Given the description of an element on the screen output the (x, y) to click on. 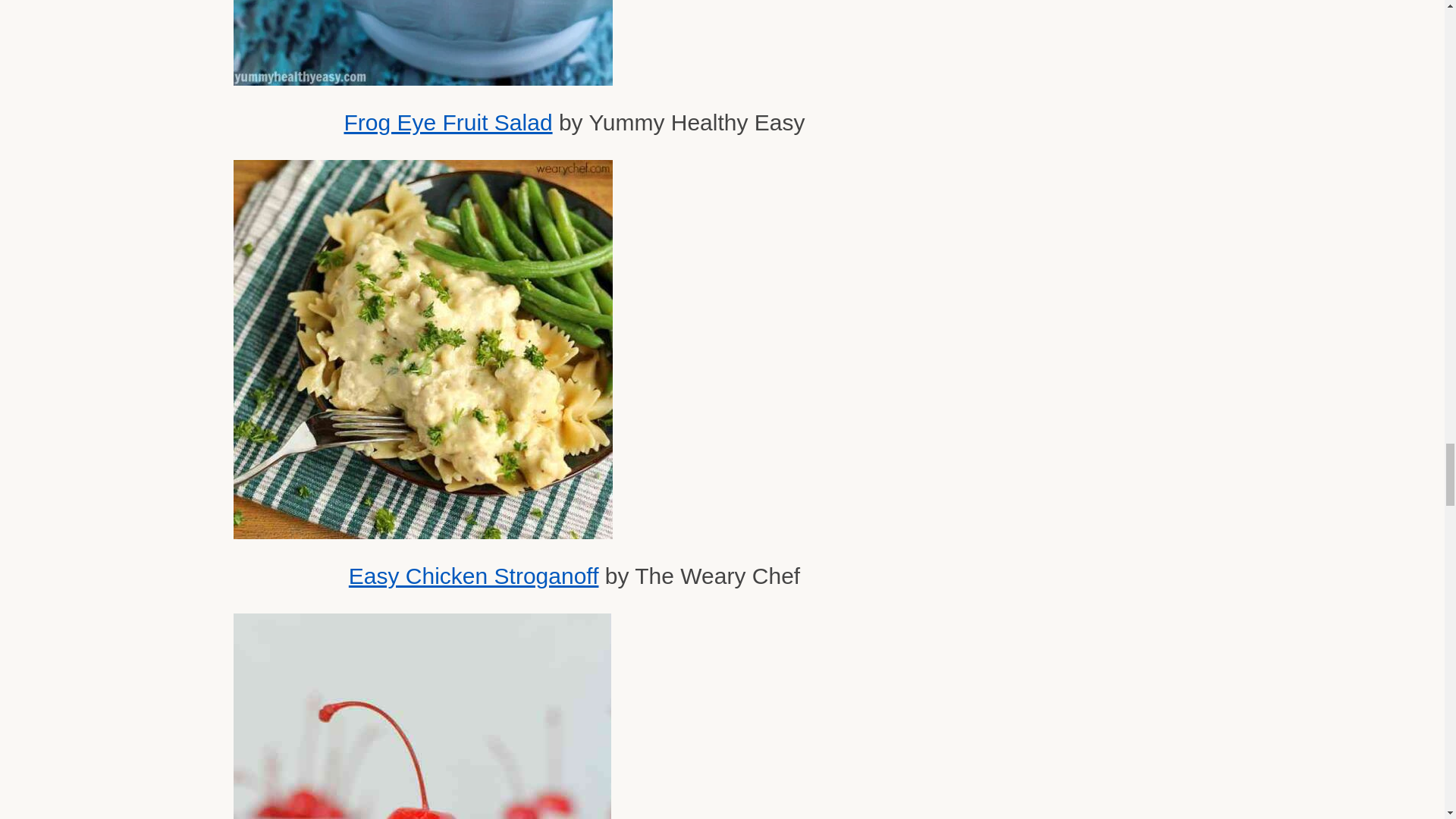
Frog Eye Fruit Salad (447, 122)
Easy Chicken Stroganoff (473, 575)
